Given the description of an element on the screen output the (x, y) to click on. 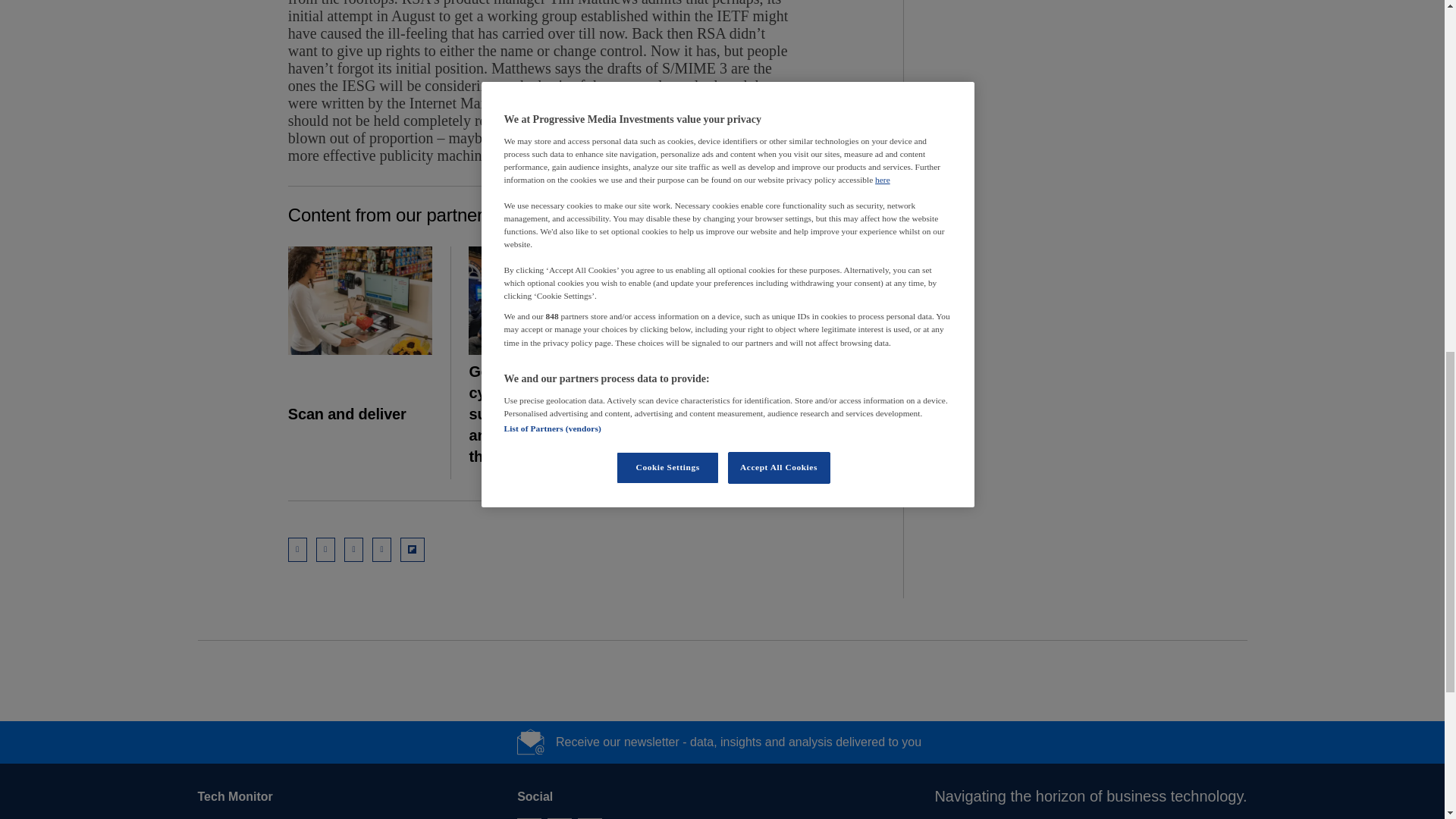
Scan and deliver (360, 300)
Share on Flipboard (412, 549)
